Given the description of an element on the screen output the (x, y) to click on. 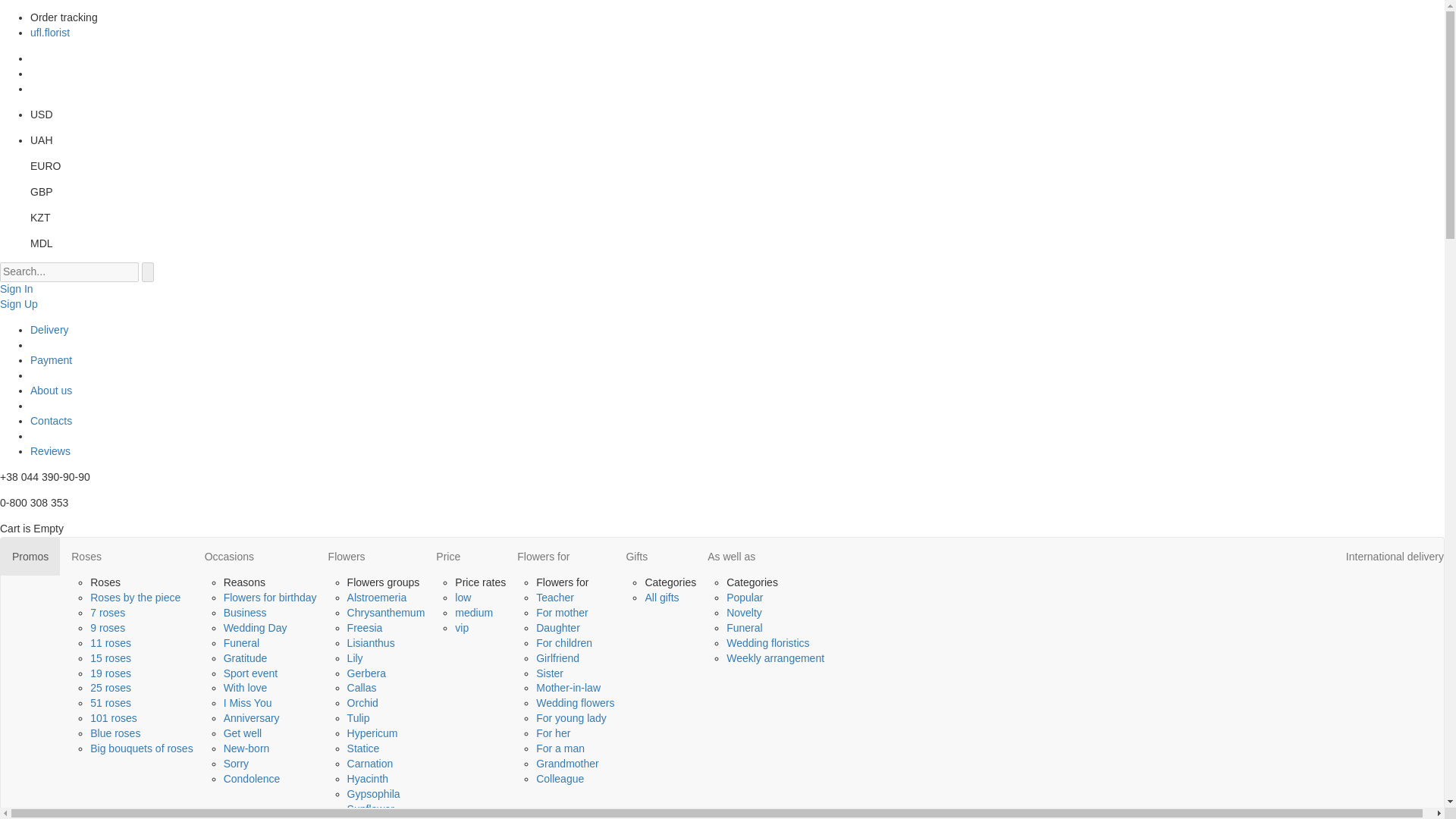
I Miss You (248, 702)
Sport event (251, 673)
Flowers (371, 556)
Roses by the piece (135, 597)
New-born (246, 748)
Sign In (16, 288)
19 roses (110, 673)
Condolence (252, 778)
ufl.florist (49, 32)
